Given the description of an element on the screen output the (x, y) to click on. 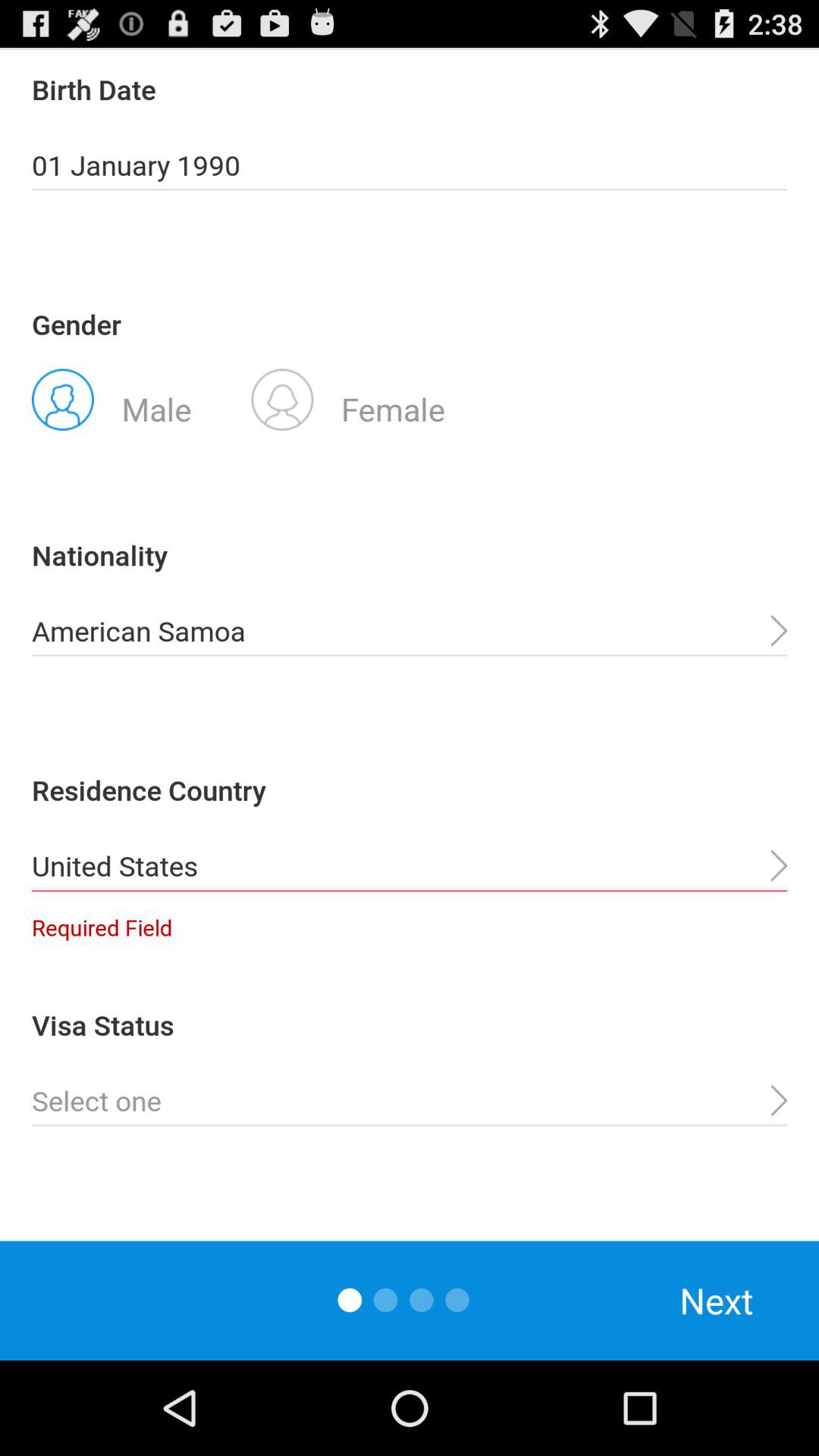
tap item below the 01 january 1990 item (348, 398)
